Given the description of an element on the screen output the (x, y) to click on. 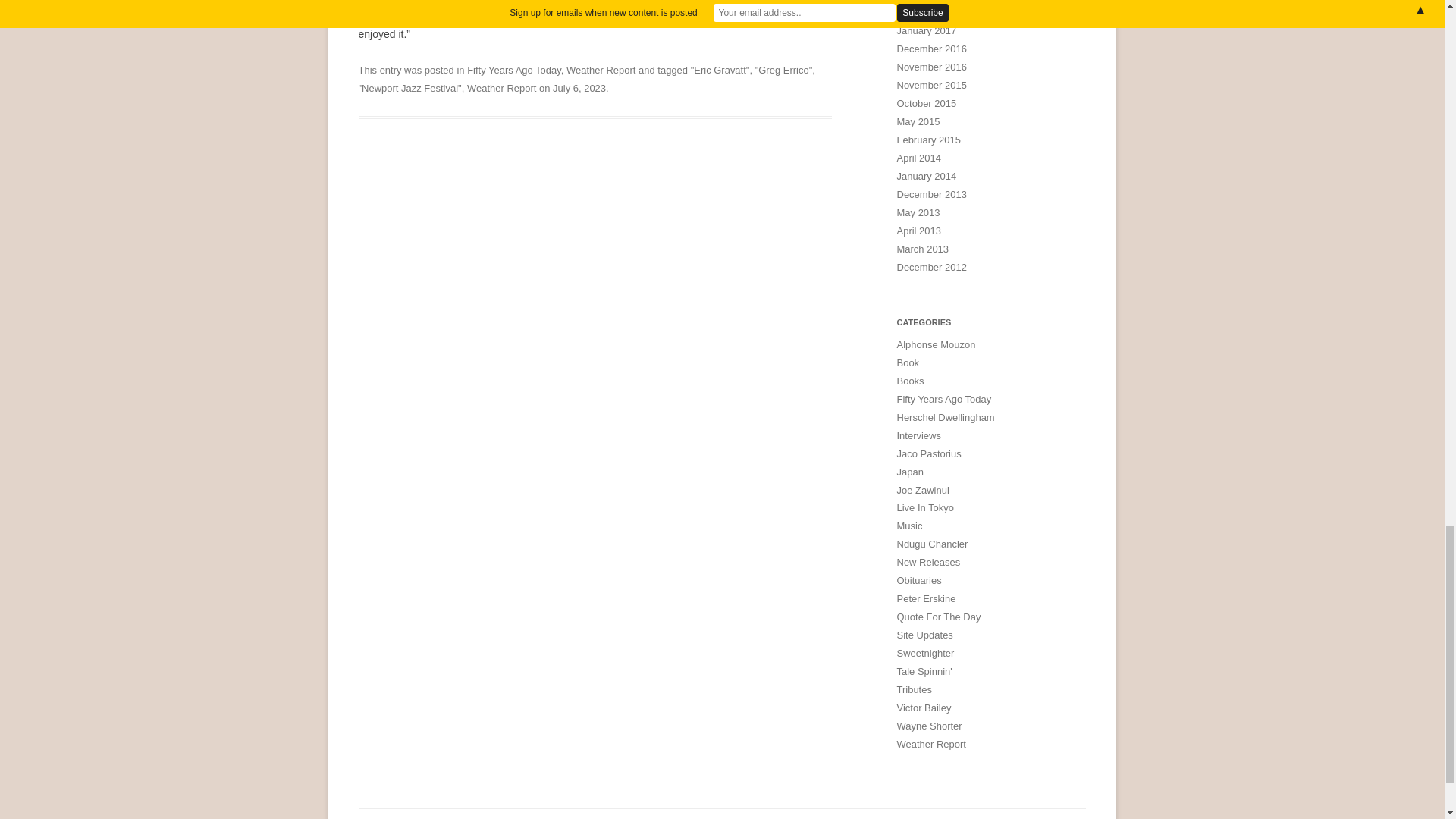
"Newport Jazz Festival" (409, 88)
"Eric Gravatt" (719, 70)
1:00 am (579, 88)
"Greg Errico" (783, 70)
Weather Report (501, 88)
July 6, 2023 (579, 88)
Fifty Years Ago Today (513, 70)
Weather Report (600, 70)
